Given the description of an element on the screen output the (x, y) to click on. 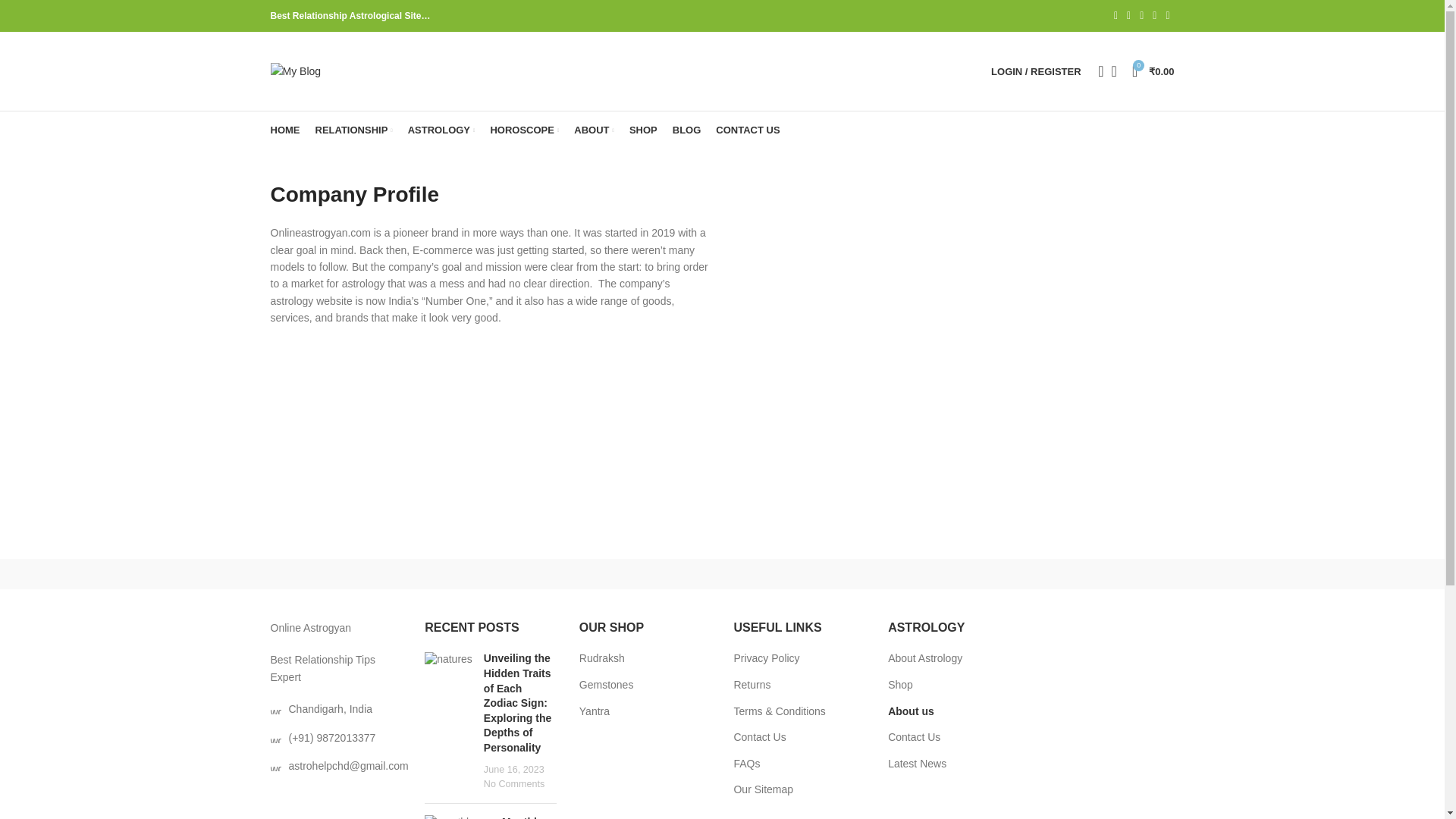
HOME (284, 130)
Vitra (333, 573)
ABOUT (593, 130)
HOROSCOPE (524, 130)
Log in (956, 312)
Louis Poulsen (593, 573)
My account (1035, 71)
Joseph Joseph (851, 573)
Shopping cart (1153, 71)
Hay (980, 573)
